Given the description of an element on the screen output the (x, y) to click on. 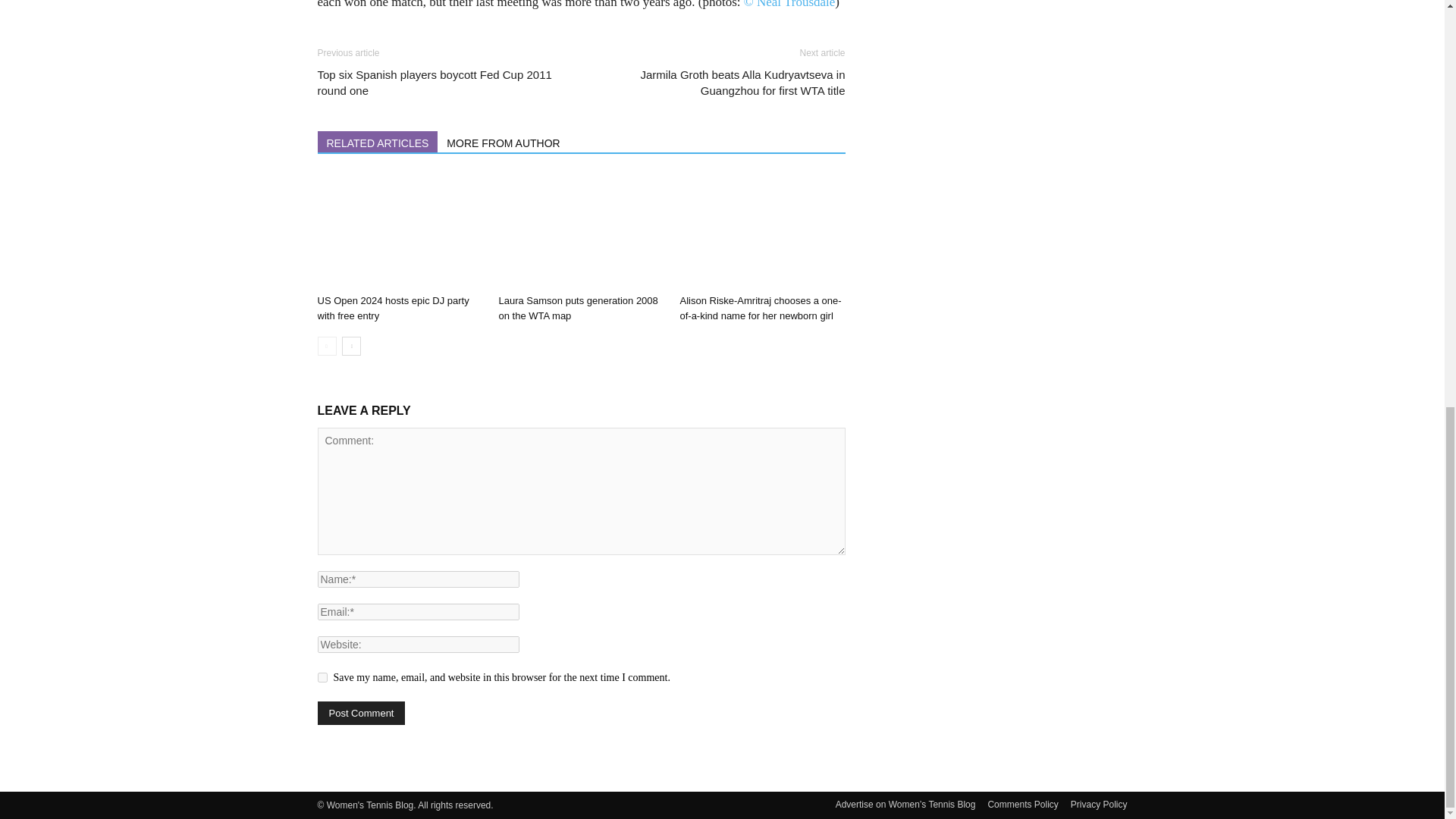
Laura Samson puts generation 2008 on the WTA map (577, 307)
US Open 2024 hosts epic DJ party with free entry (399, 231)
US Open 2024 hosts epic DJ party with free entry (392, 307)
Laura Samson puts generation 2008 on the WTA map (580, 231)
Post Comment (360, 712)
yes (321, 677)
